Given the description of an element on the screen output the (x, y) to click on. 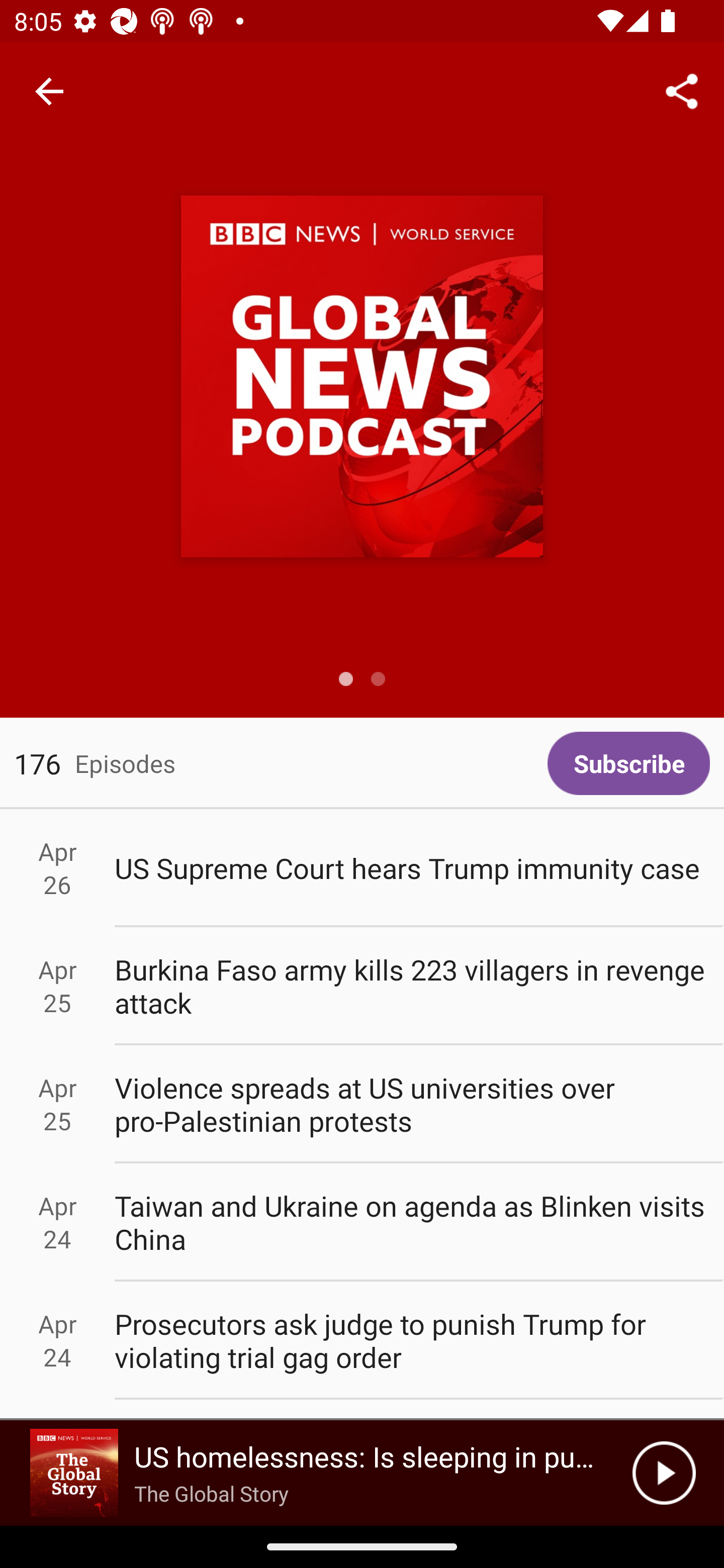
Navigate up (49, 91)
Share... (681, 90)
Subscribe (628, 763)
Apr 26 US Supreme Court hears Trump immunity case (362, 867)
Play (663, 1472)
